Given the description of an element on the screen output the (x, y) to click on. 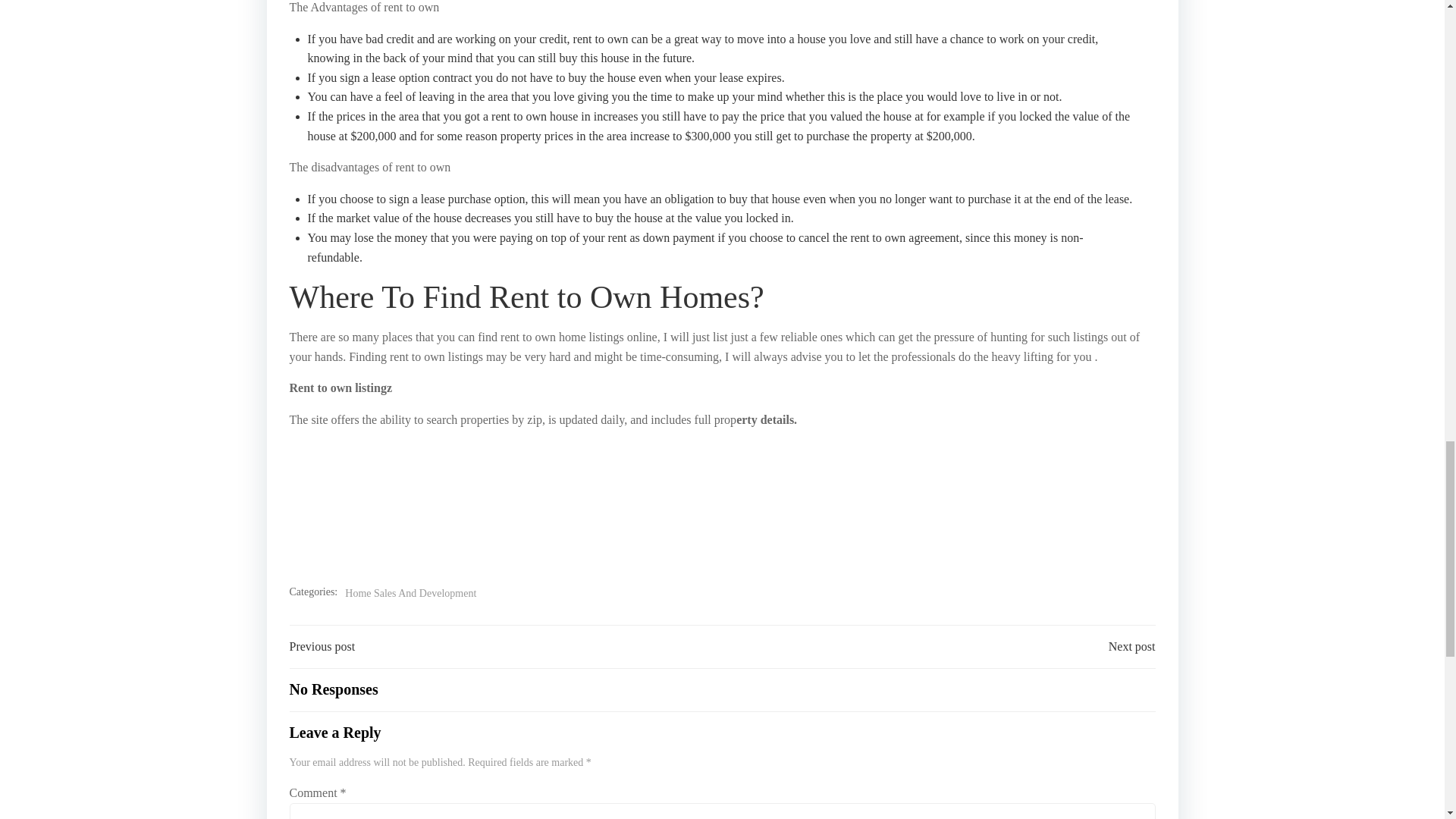
Home Sales And Development (410, 593)
Next post (1132, 647)
Previous post (322, 647)
